Given the description of an element on the screen output the (x, y) to click on. 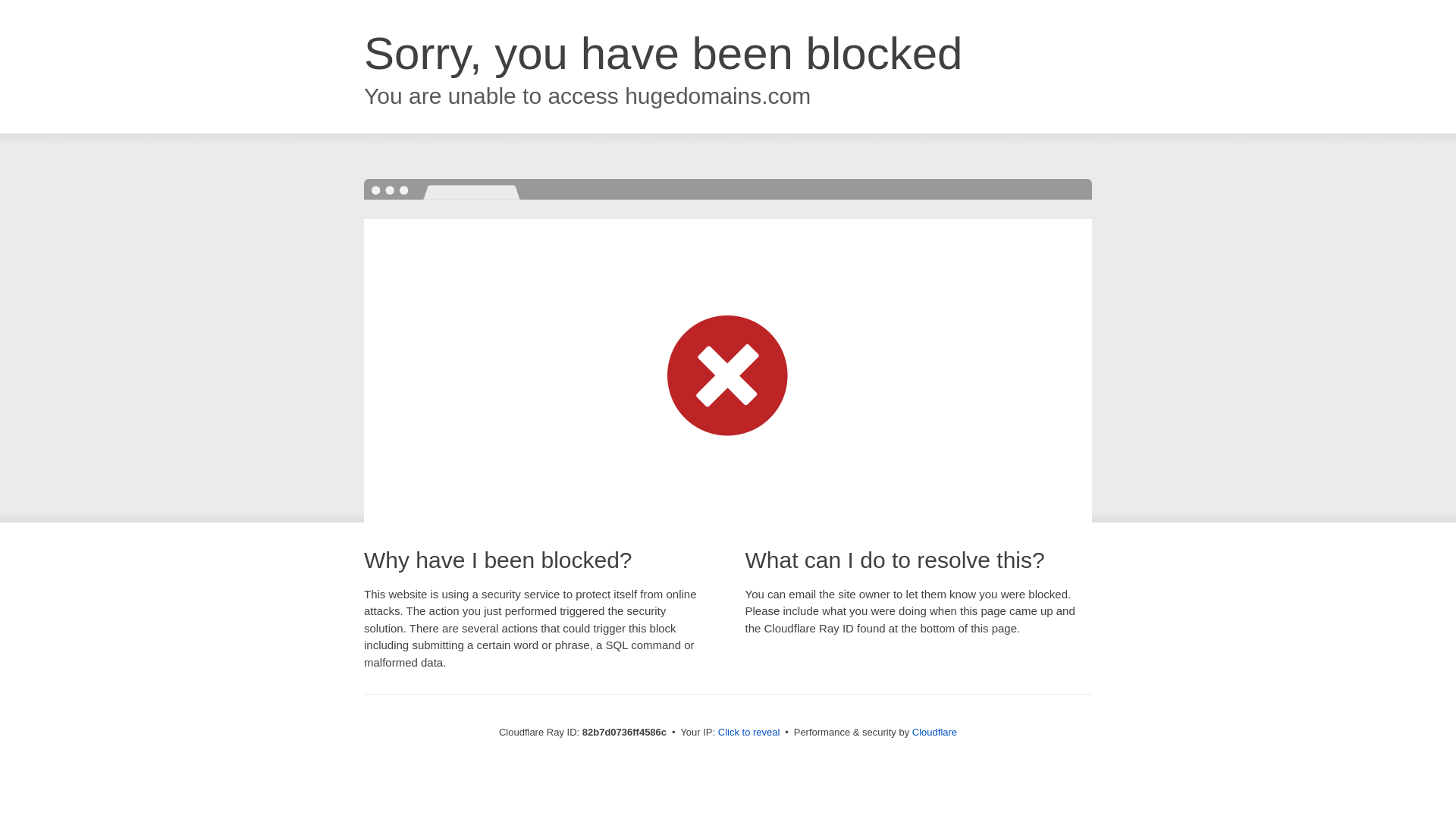
Cloudflare Element type: text (934, 731)
Click to reveal Element type: text (749, 732)
